Given the description of an element on the screen output the (x, y) to click on. 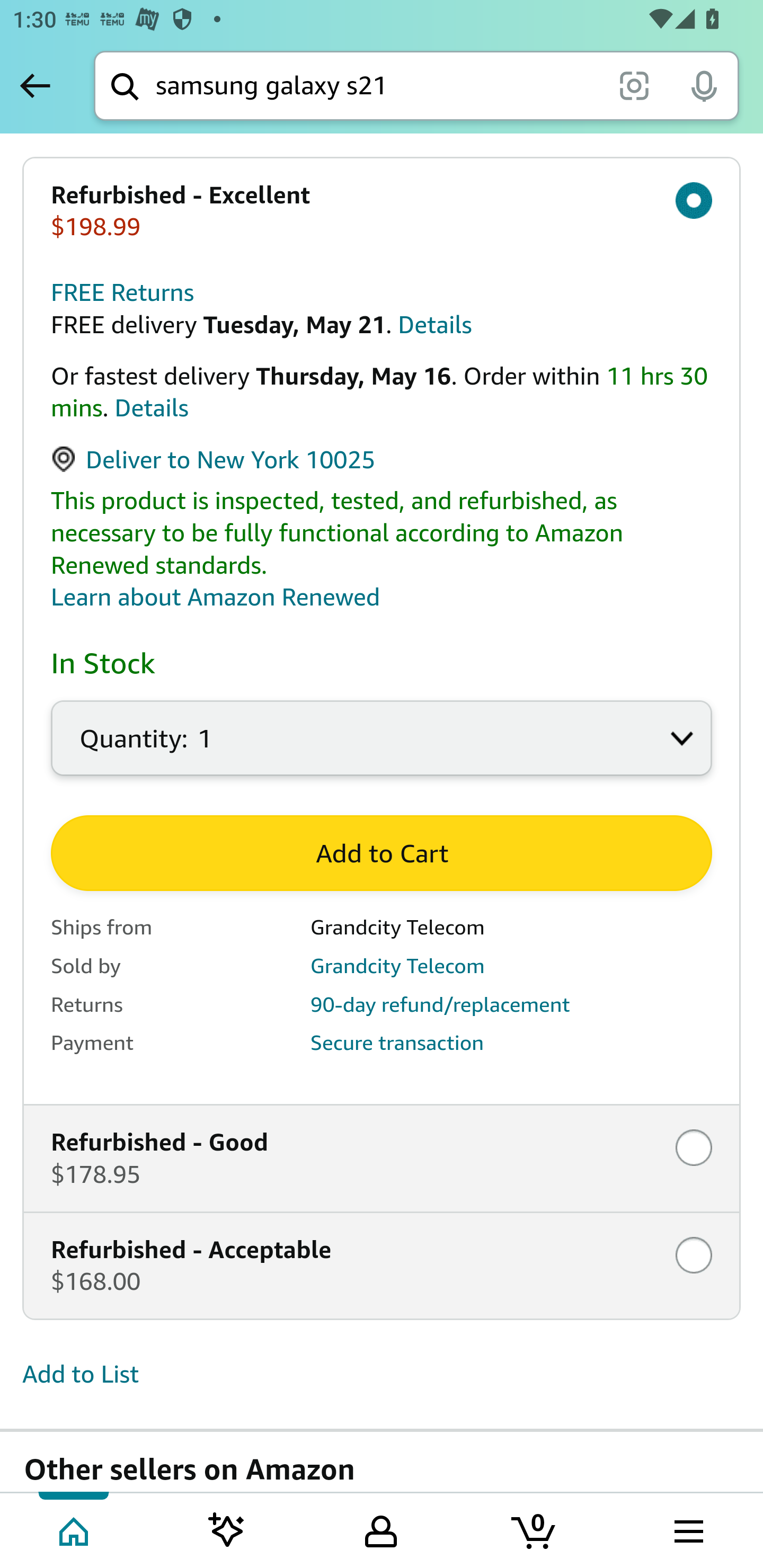
Back (35, 85)
scan it (633, 85)
Refurbished - Excellent $198.99 (381, 211)
FREE Returns (123, 292)
Details (434, 325)
Details (151, 408)
Deliver to New York 10025‌ (213, 460)
Learn about Amazon Renewed (216, 598)
1 (381, 749)
Add to Cart (381, 854)
Grandcity Telecom (396, 965)
Refurbished - Good $178.95 (381, 1158)
Refurbished - Acceptable $168.00 (381, 1266)
Add to List (80, 1375)
Home Tab 1 of 5 (75, 1529)
Inspire feed Tab 2 of 5 (227, 1529)
Your Amazon.com Tab 3 of 5 (380, 1529)
Cart 0 item Tab 4 of 5 0 (534, 1529)
Browse menu Tab 5 of 5 (687, 1529)
